Given the description of an element on the screen output the (x, y) to click on. 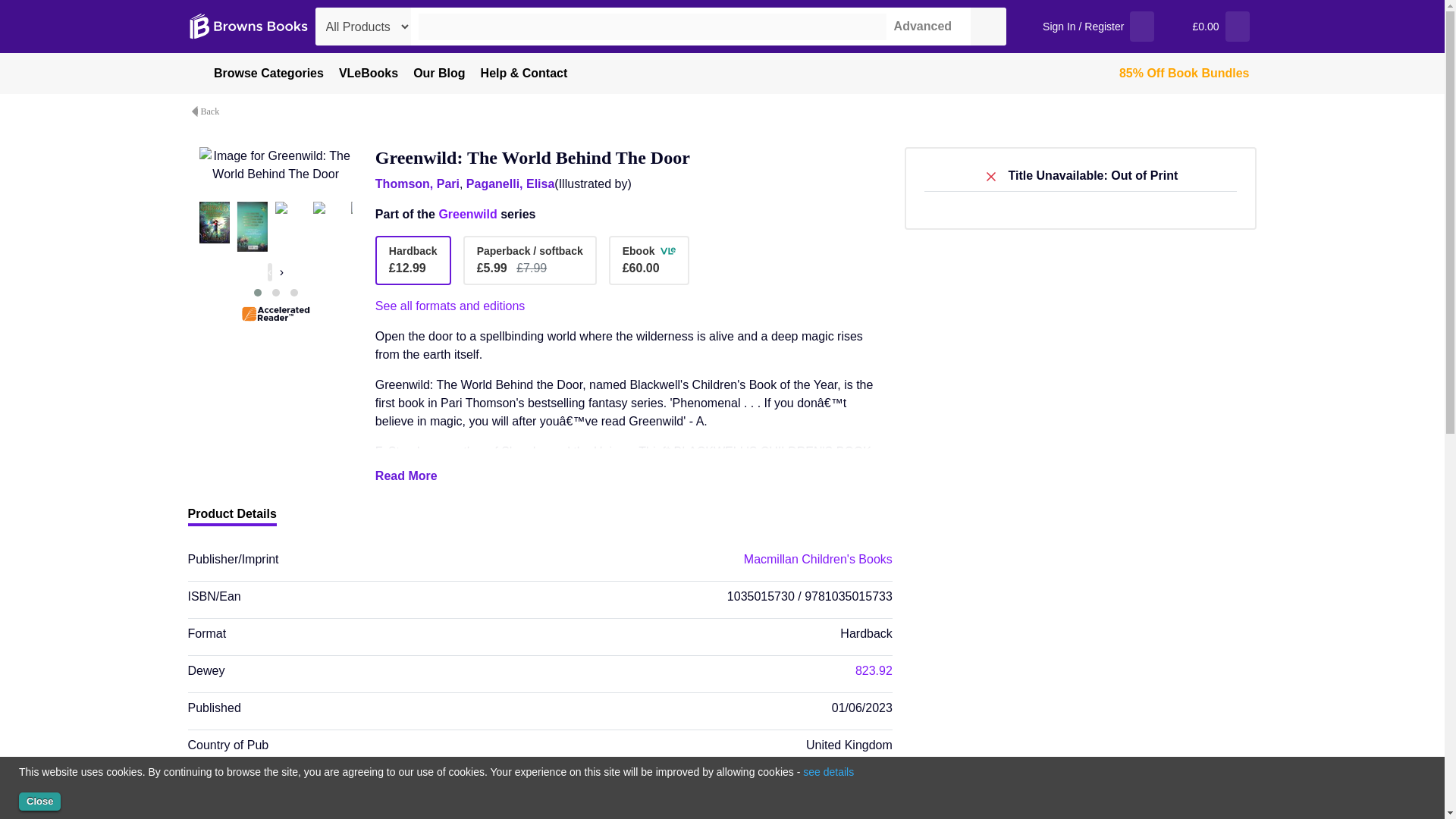
Back (212, 110)
Browse Categories (259, 73)
AR Title Book Level: 6.20 (275, 314)
ar title book level 6.20 (275, 314)
Advanced (919, 26)
Our Blog (438, 73)
VLeBooks (368, 73)
